Given the description of an element on the screen output the (x, y) to click on. 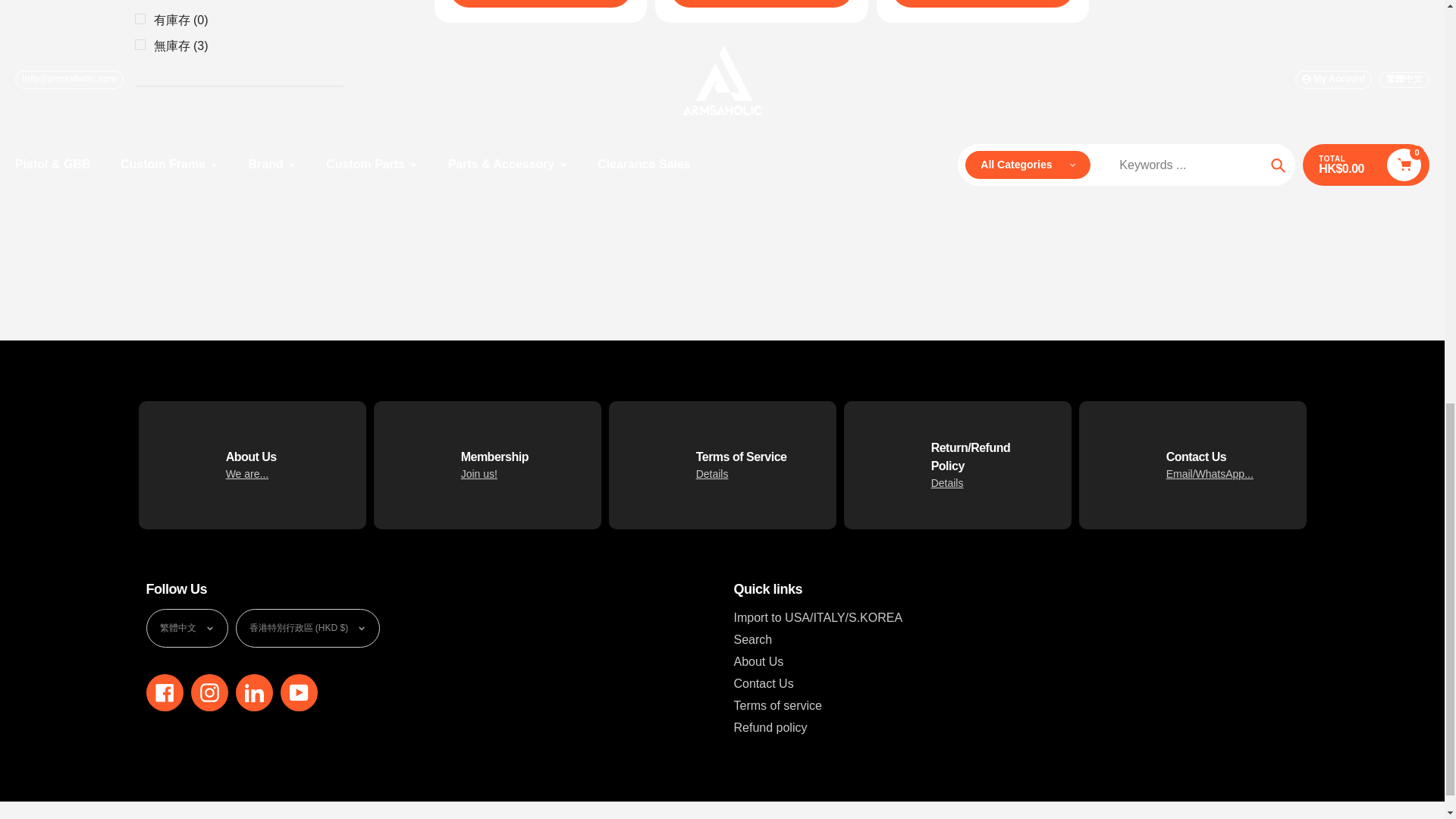
About Us (247, 473)
Contact Us (1209, 473)
Rewards Points (479, 473)
Refund Policy (947, 482)
Terms of Service (712, 473)
